Given the description of an element on the screen output the (x, y) to click on. 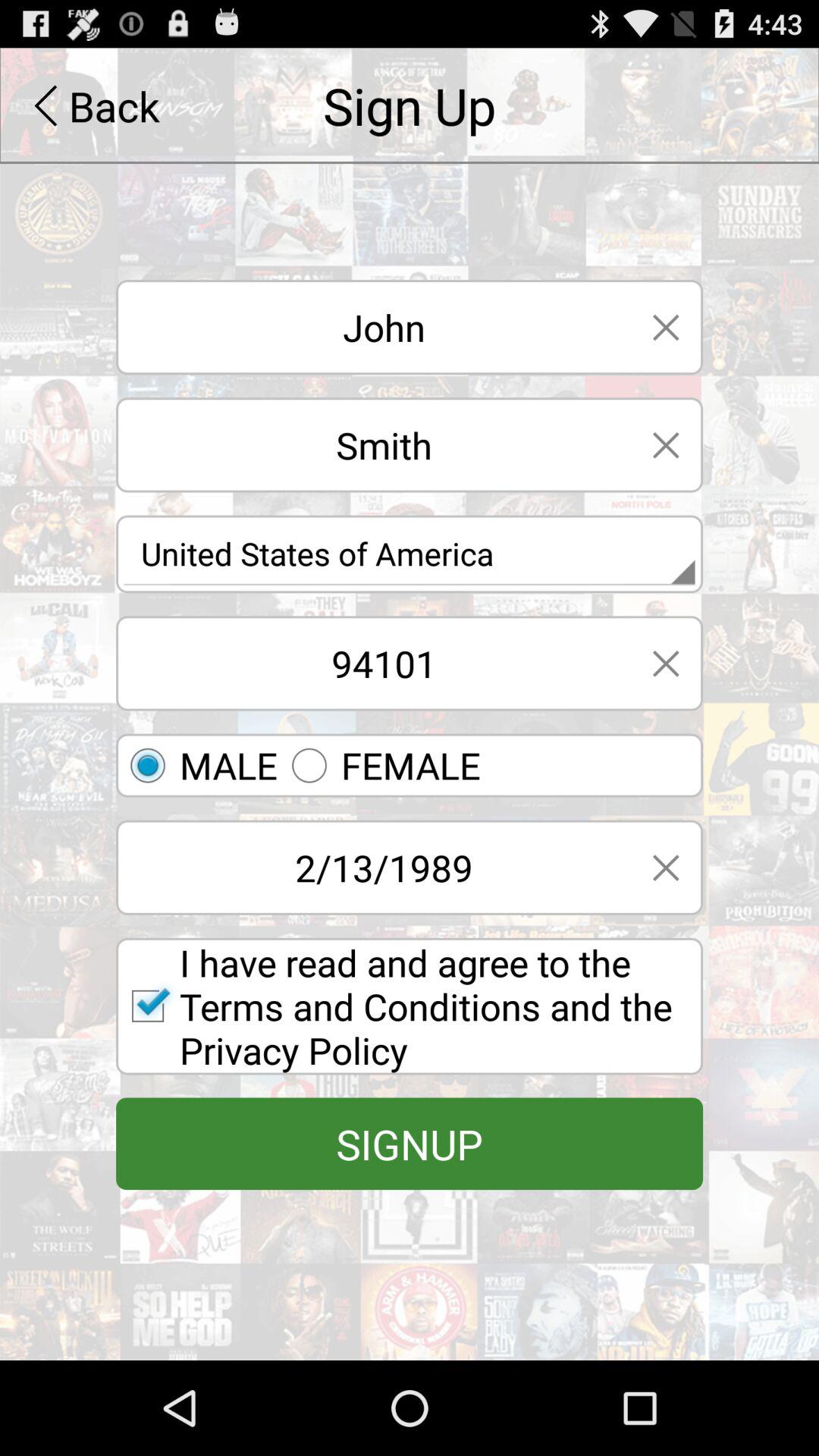
delete line (665, 444)
